Given the description of an element on the screen output the (x, y) to click on. 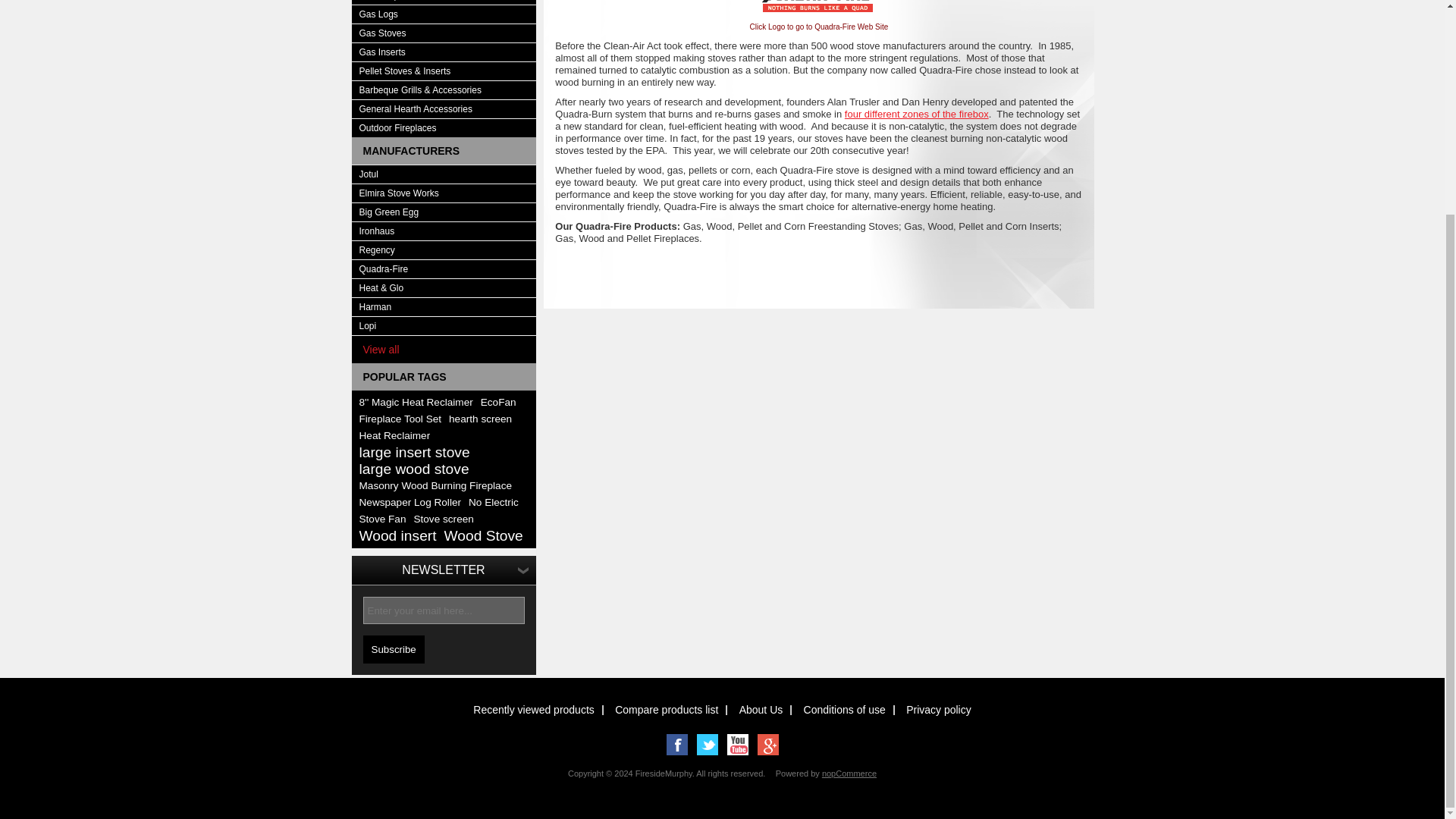
Subscribe (392, 649)
